Given the description of an element on the screen output the (x, y) to click on. 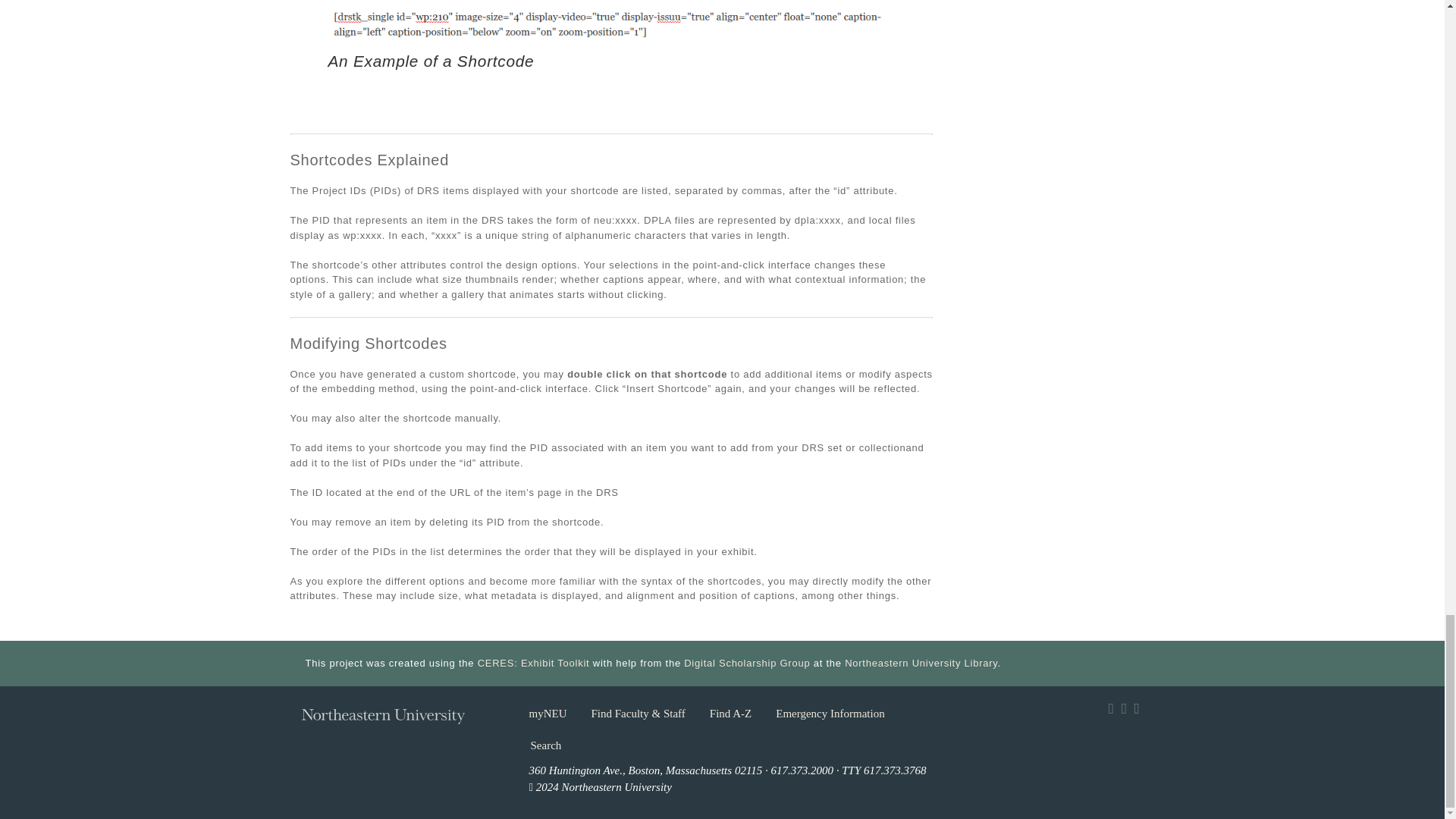
Find A-Z (730, 713)
Digital Scholarship Group (746, 663)
Emergency Information (829, 713)
CERES: Exhibit Toolkit (533, 663)
myNEU (547, 713)
Search (545, 745)
Northeastern University (382, 720)
An Example of a Shortcode (430, 60)
Northeastern University Library (920, 663)
